Given the description of an element on the screen output the (x, y) to click on. 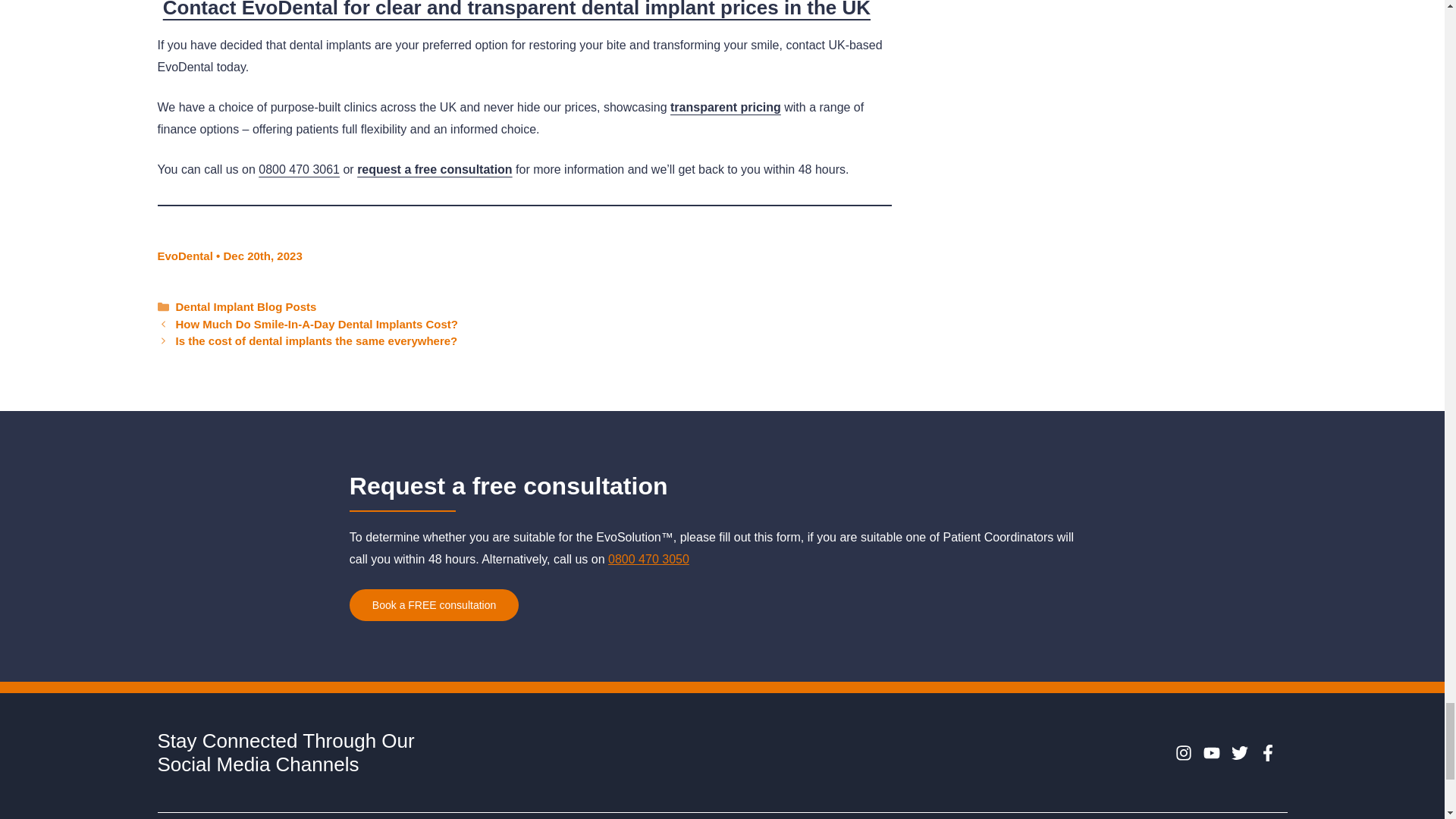
7:47 am (261, 255)
Click to Call:0800 470 3050 (648, 558)
View all posts by EvoDental (184, 255)
